Given the description of an element on the screen output the (x, y) to click on. 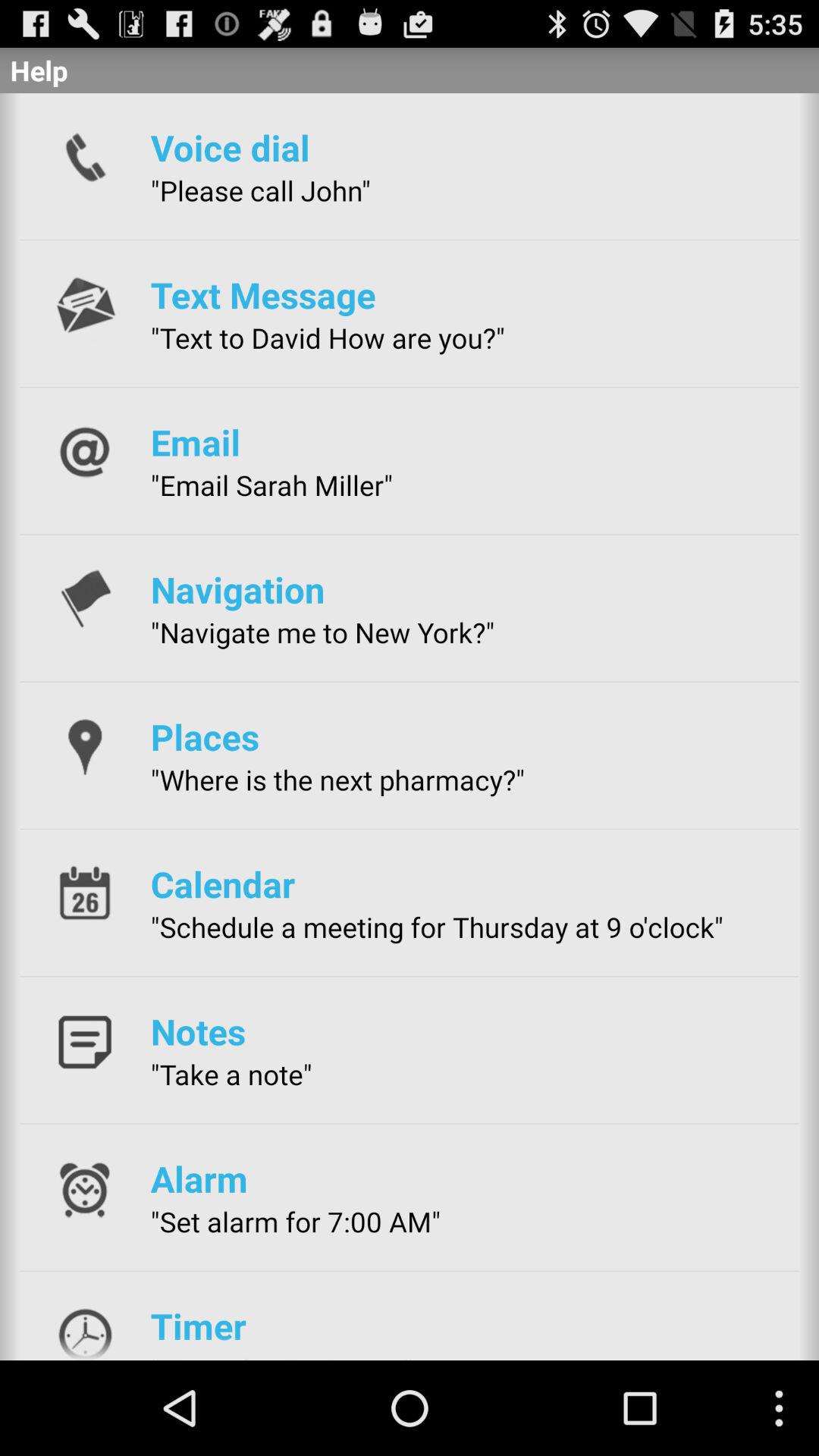
flip until navigation (237, 589)
